Given the description of an element on the screen output the (x, y) to click on. 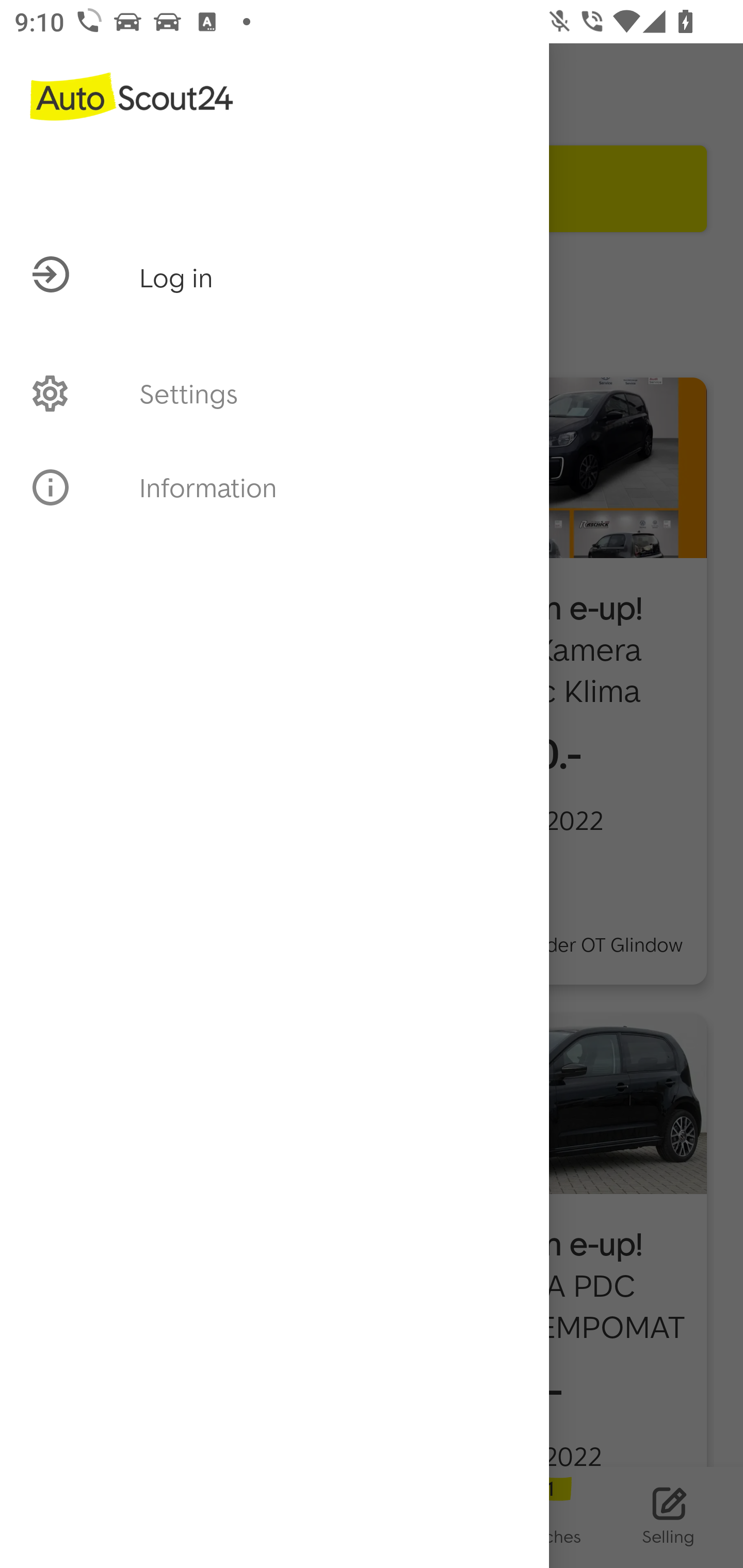
PROFILE Settings (274, 393)
INFO Information (274, 487)
